Given the description of an element on the screen output the (x, y) to click on. 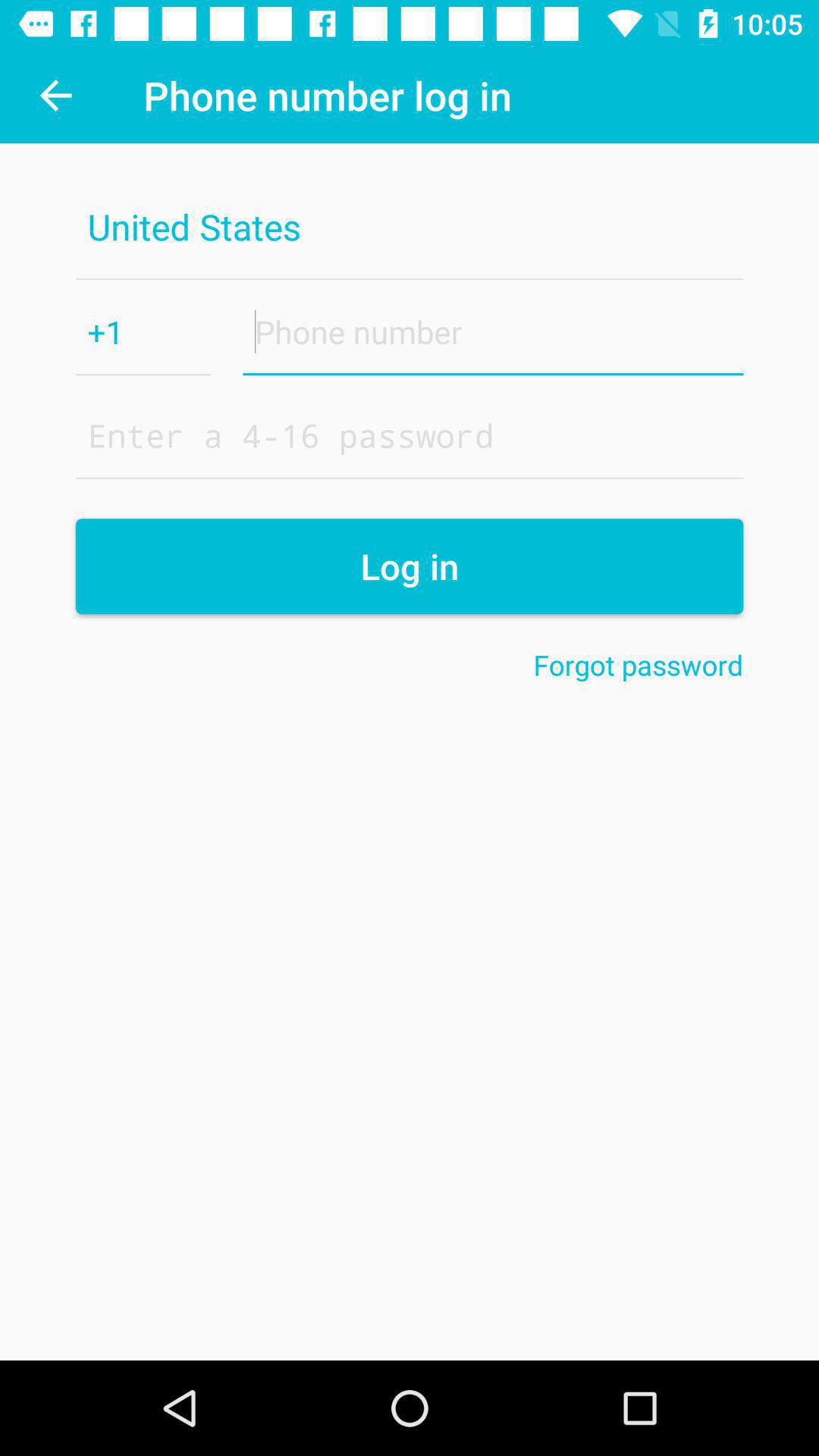
flip until the forgot password icon (638, 664)
